Given the description of an element on the screen output the (x, y) to click on. 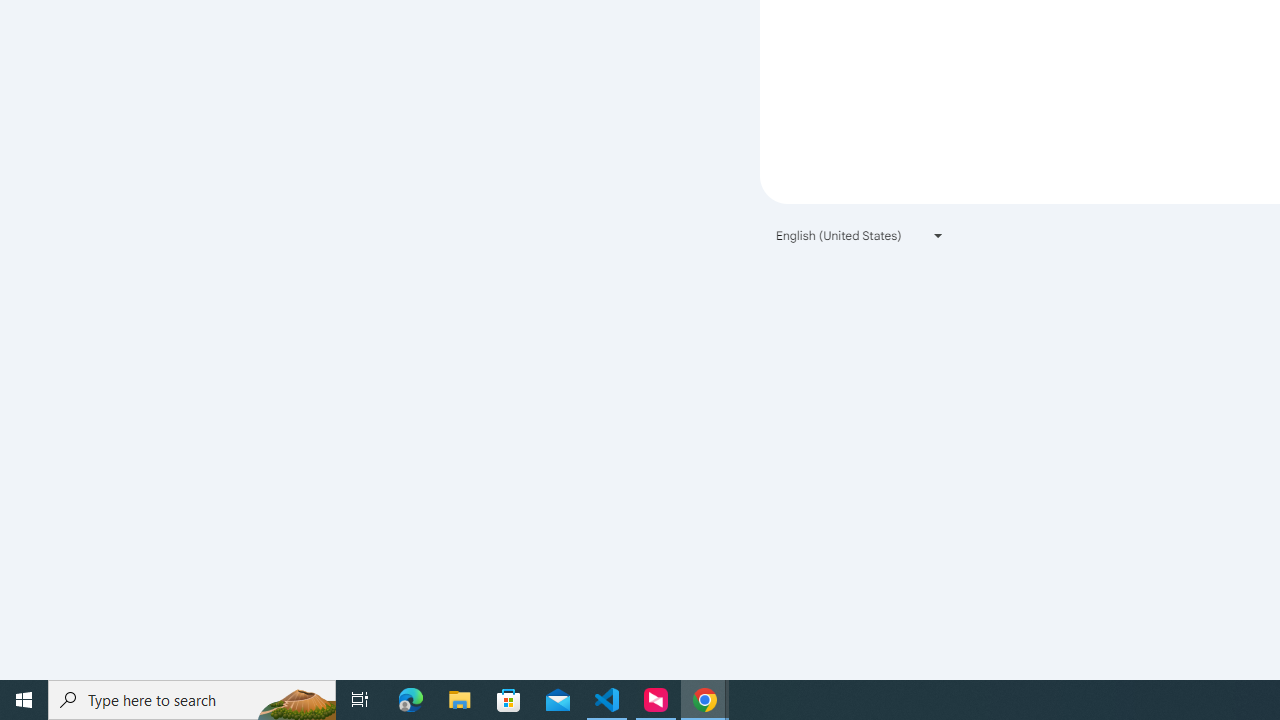
English (United States) (860, 234)
